Given the description of an element on the screen output the (x, y) to click on. 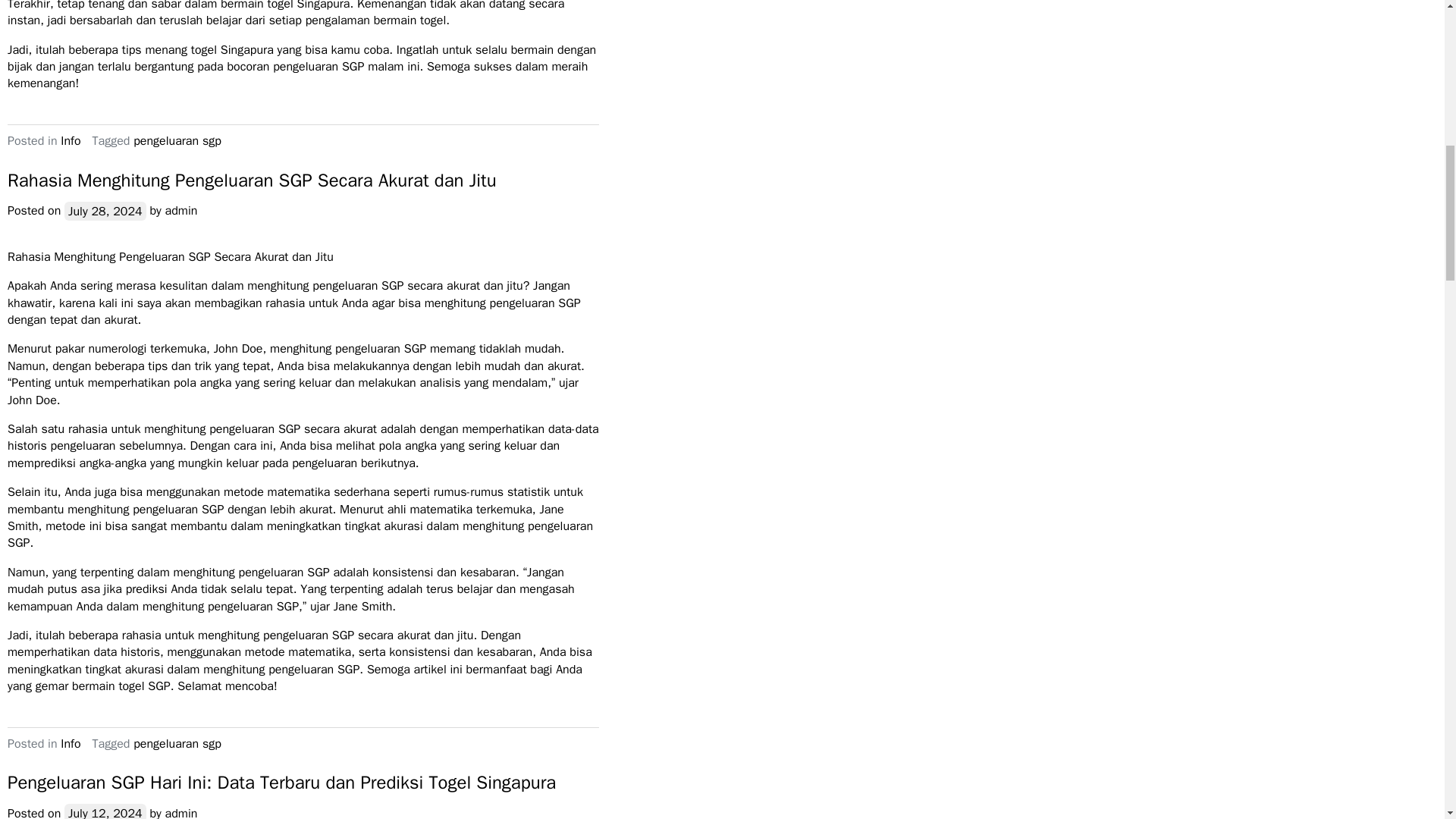
July 12, 2024 (105, 811)
pengeluaran sgp (177, 140)
admin (181, 210)
Rahasia Menghitung Pengeluaran SGP Secara Akurat dan Jitu (251, 179)
pengeluaran sgp (177, 743)
admin (181, 812)
Info (70, 743)
Info (70, 140)
July 28, 2024 (105, 210)
